Given the description of an element on the screen output the (x, y) to click on. 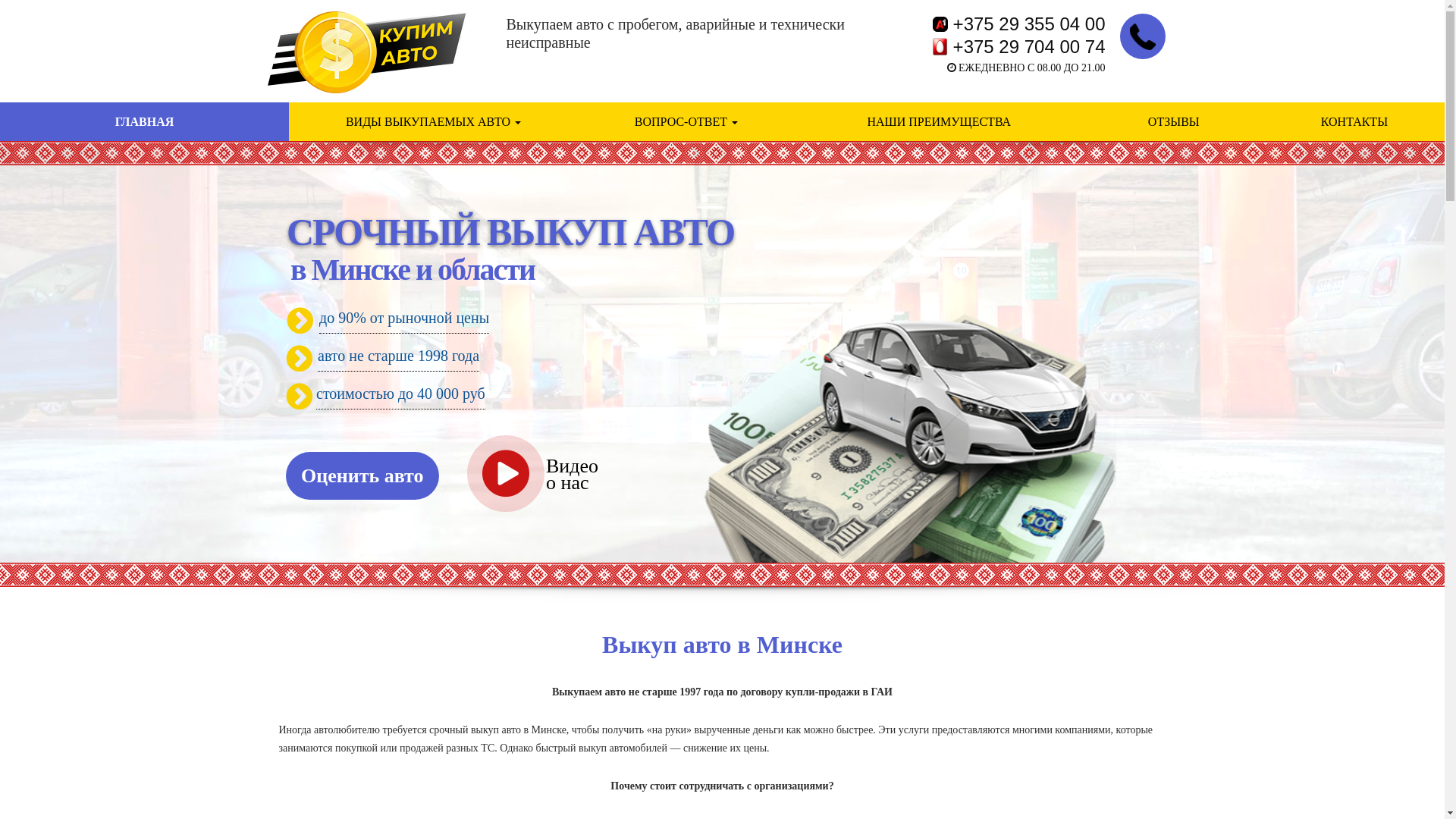
+375 29 704 00 74 Element type: text (1018, 46)
+375 29 355 04 00 Element type: text (1018, 23)
